Given the description of an element on the screen output the (x, y) to click on. 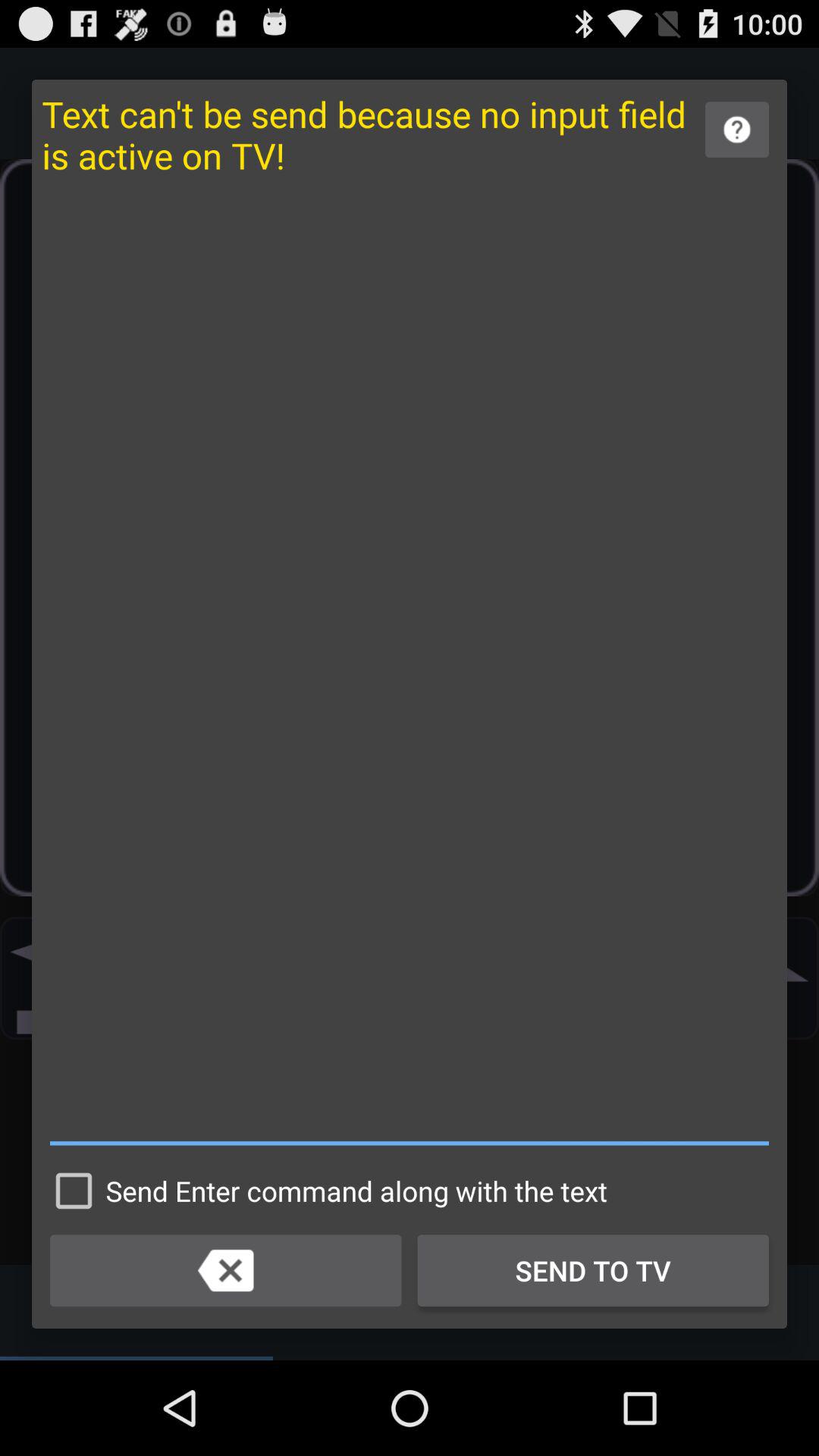
tap the icon next to the text can t icon (736, 129)
